Given the description of an element on the screen output the (x, y) to click on. 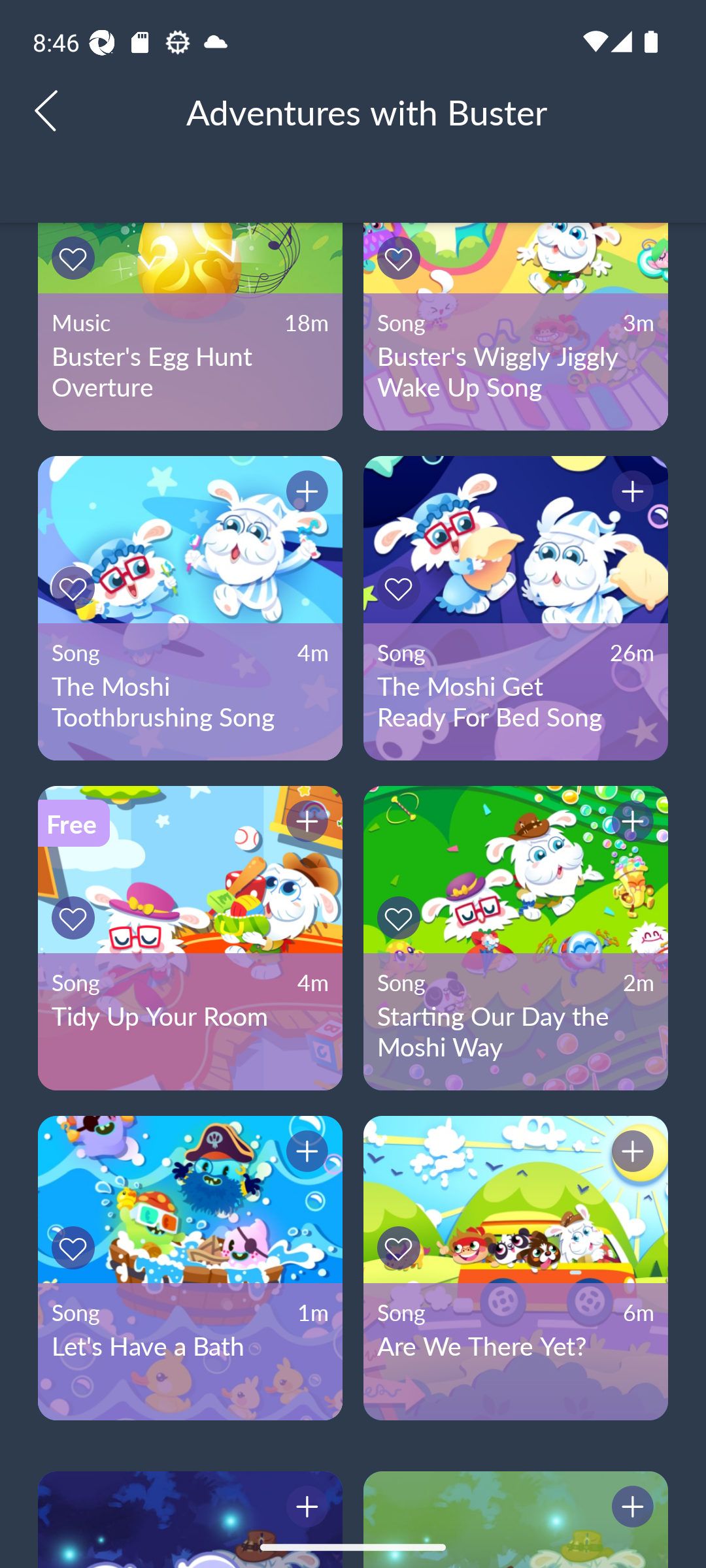
Button (76, 257)
Button (401, 257)
Button (304, 494)
Button (629, 494)
Button (76, 587)
Button (401, 587)
Button (304, 823)
Button (629, 823)
Button (76, 917)
Button (401, 917)
Button (304, 1153)
Button (629, 1153)
Button (76, 1247)
Button (401, 1247)
Button (304, 1508)
Button (629, 1508)
